Given the description of an element on the screen output the (x, y) to click on. 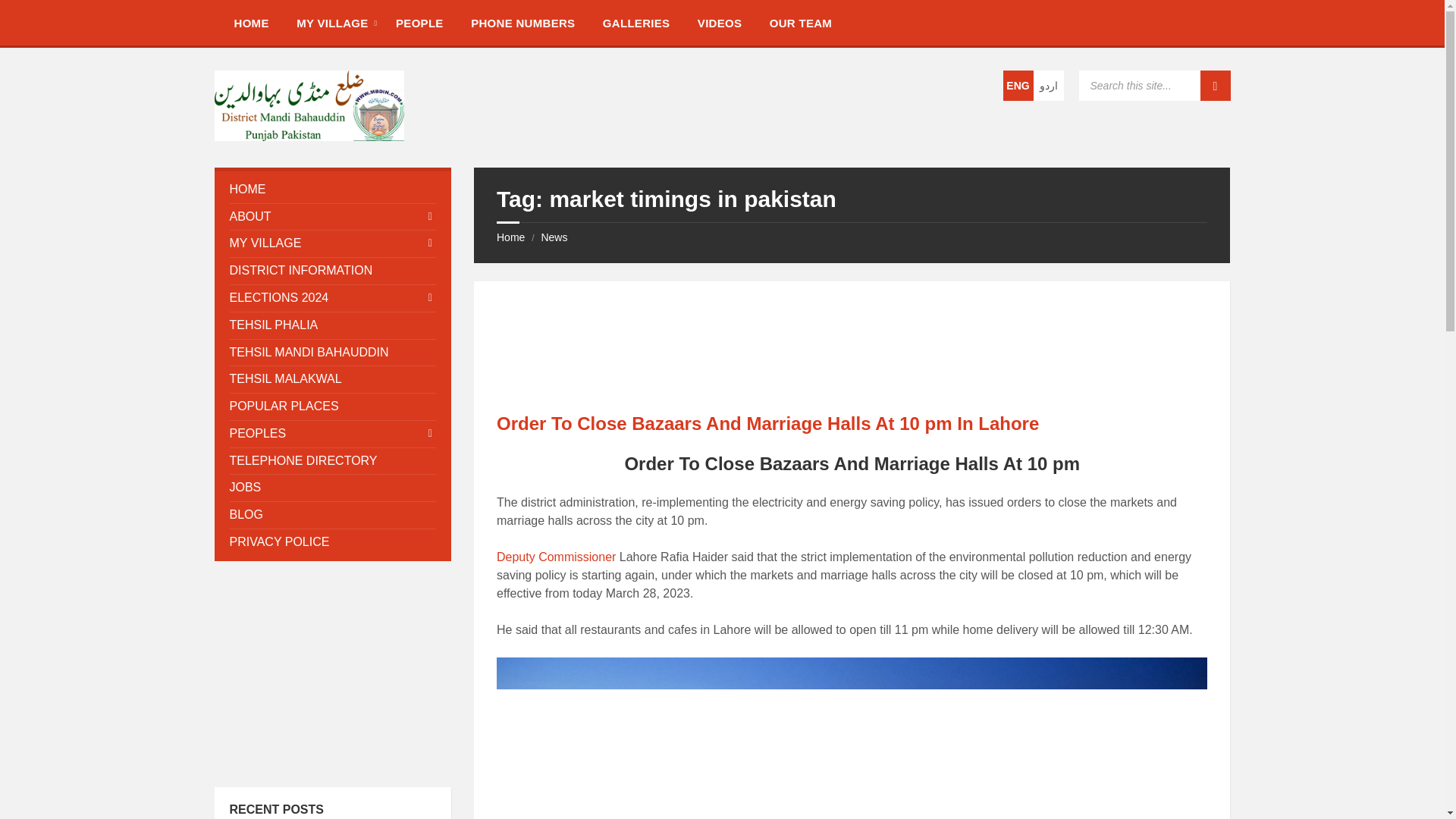
Advertisement (331, 674)
OUR TEAM (800, 22)
Submit search (1214, 85)
MY VILLAGE (331, 22)
ENG (1017, 85)
VIDEOS (719, 22)
PEOPLE (419, 22)
HOME (251, 22)
PHONE NUMBERS (522, 22)
GALLERIES (636, 22)
